Given the description of an element on the screen output the (x, y) to click on. 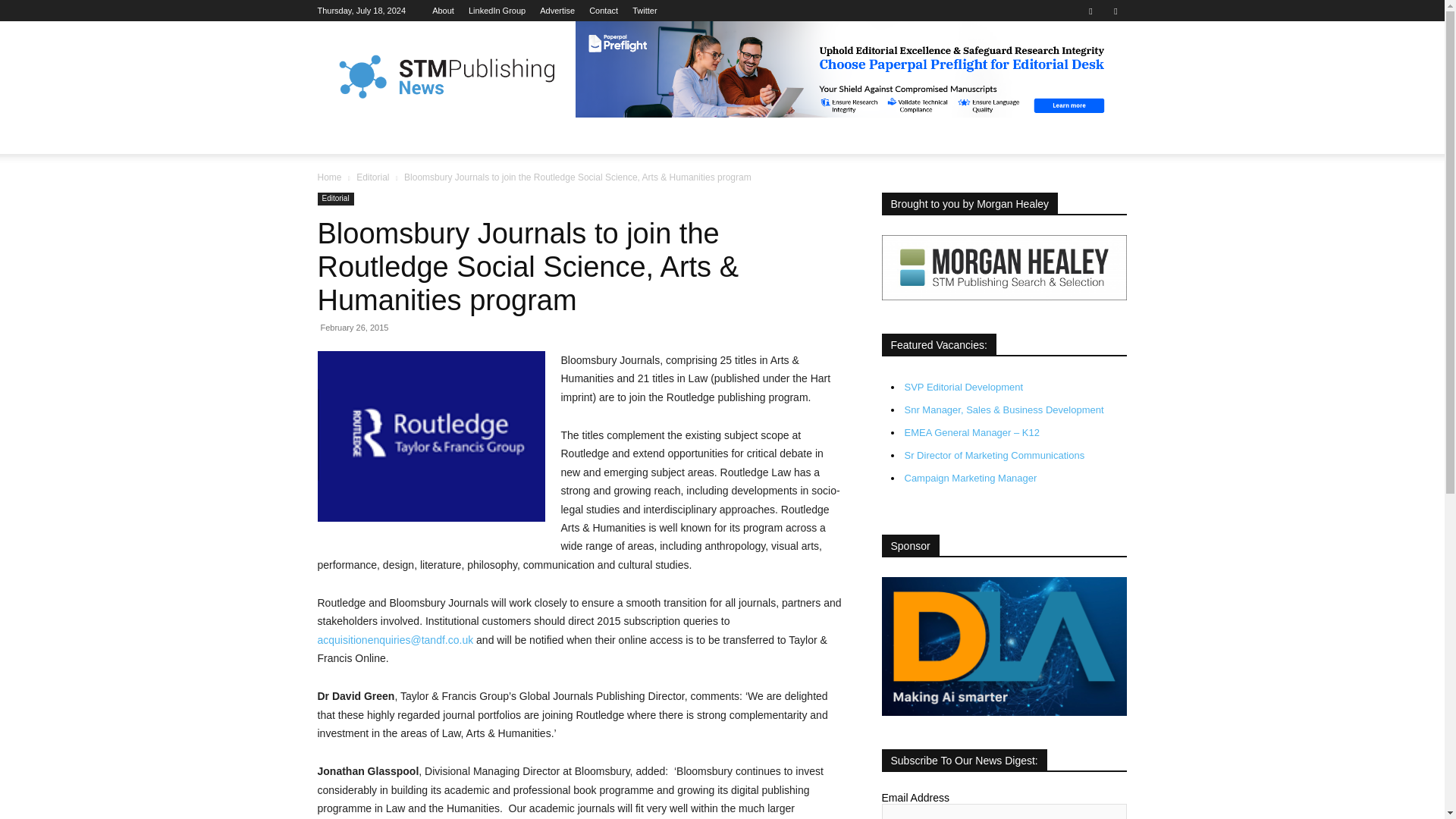
FEATURED (411, 135)
Twitter (1114, 10)
Twitter (643, 10)
LinkedIn (496, 10)
Linkedin (1090, 10)
Contact (603, 10)
LinkedIn Group (496, 10)
HOME (342, 135)
About (443, 10)
Advertise (557, 10)
